Given the description of an element on the screen output the (x, y) to click on. 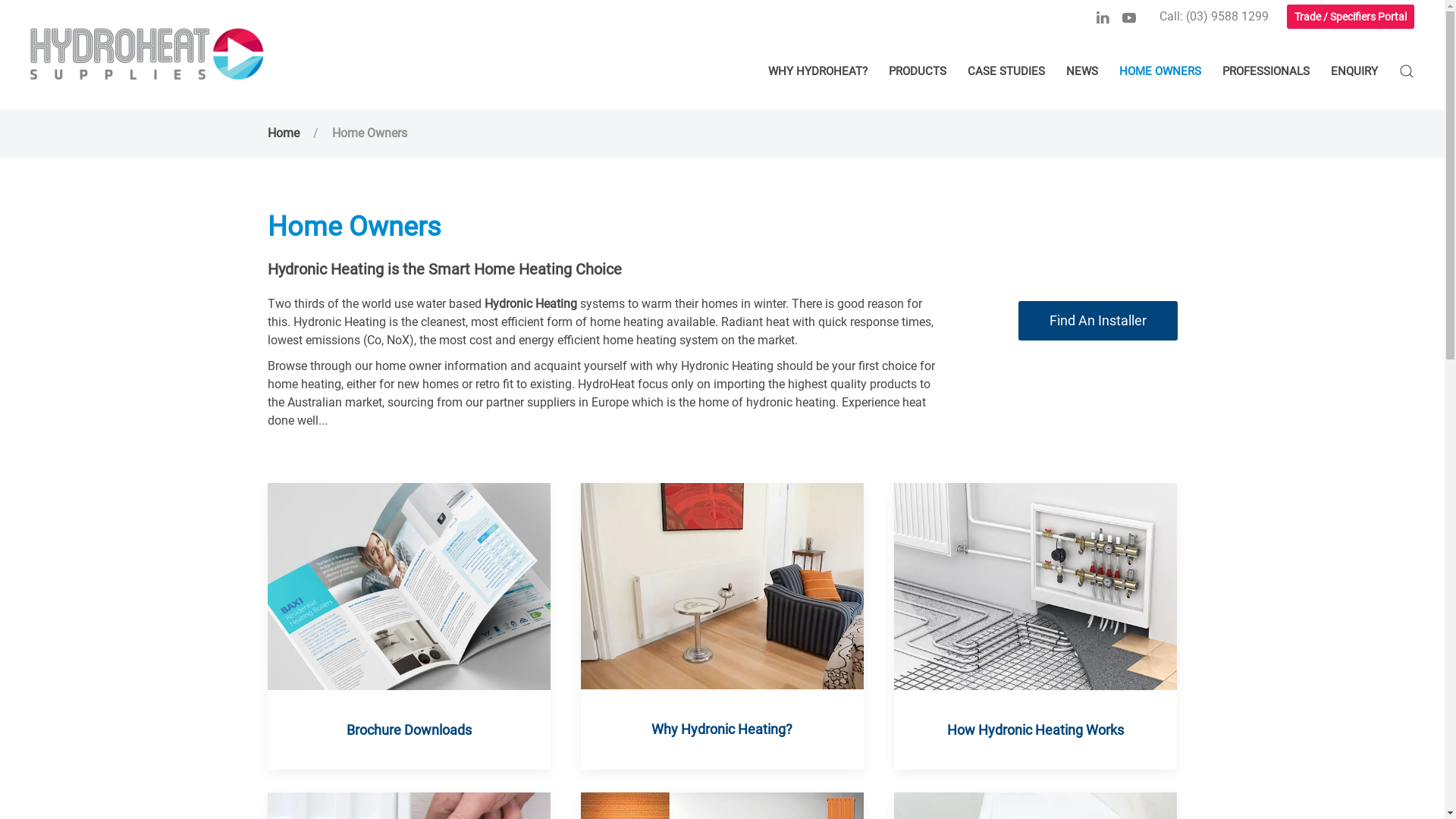
(03) 9588 1299 Element type: text (1227, 16)
Why Hydronic Heating? Element type: text (721, 626)
PROFESSIONALS Element type: text (1265, 70)
Brochure Downloads Element type: text (407, 626)
CASE STUDIES Element type: text (1005, 70)
How Hydronic Heating Works Element type: text (1035, 626)
HOME OWNERS Element type: text (1160, 70)
PRODUCTS Element type: text (917, 70)
WHY HYDROHEAT? Element type: text (817, 70)
Home Element type: text (282, 132)
Find An Installer Element type: text (1096, 320)
ENQUIRY Element type: text (1353, 70)
Trade / Specifiers Portal Element type: text (1350, 16)
NEWS Element type: text (1082, 70)
